Given the description of an element on the screen output the (x, y) to click on. 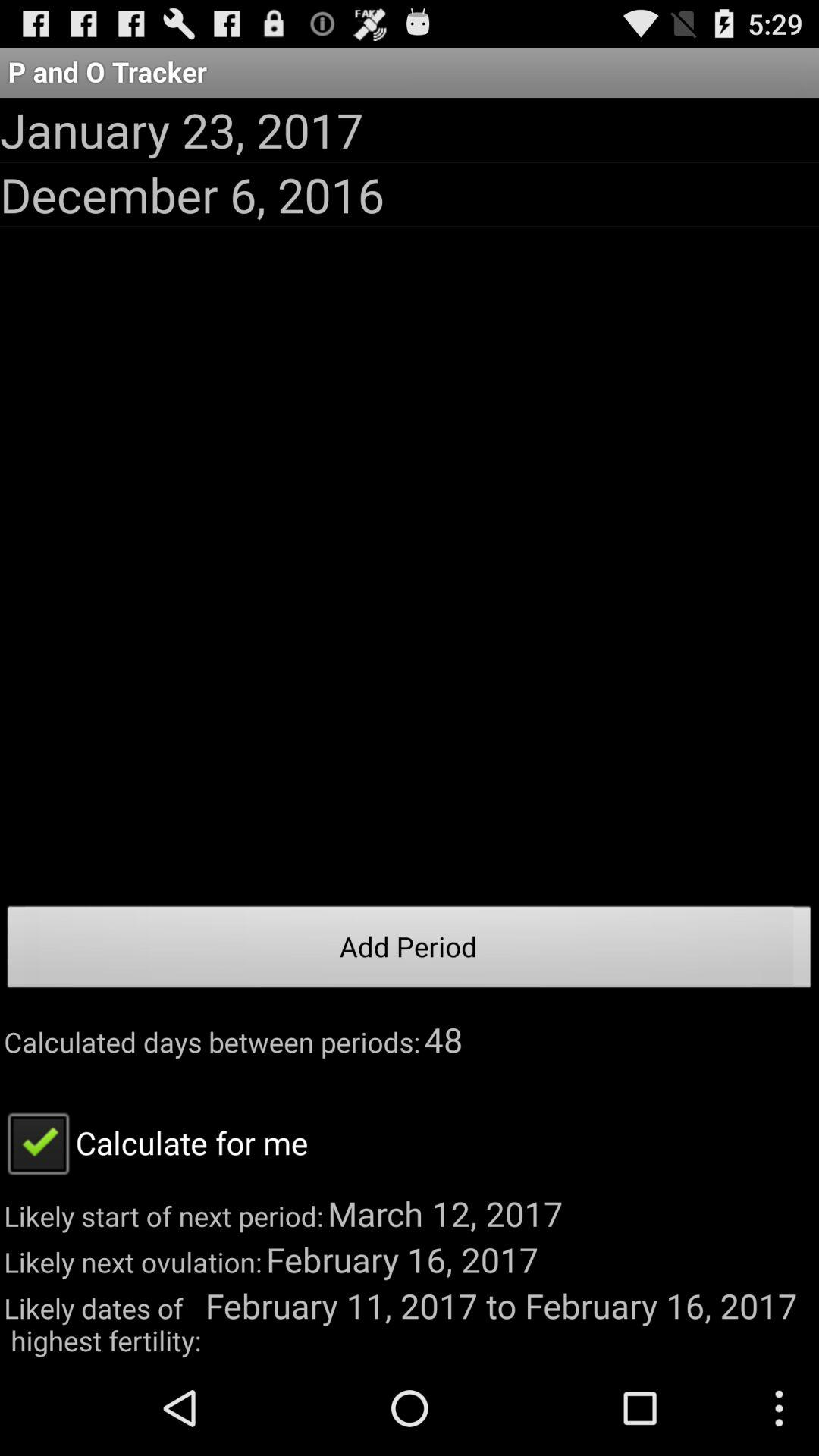
jump to the december 6, 2016 icon (192, 194)
